Given the description of an element on the screen output the (x, y) to click on. 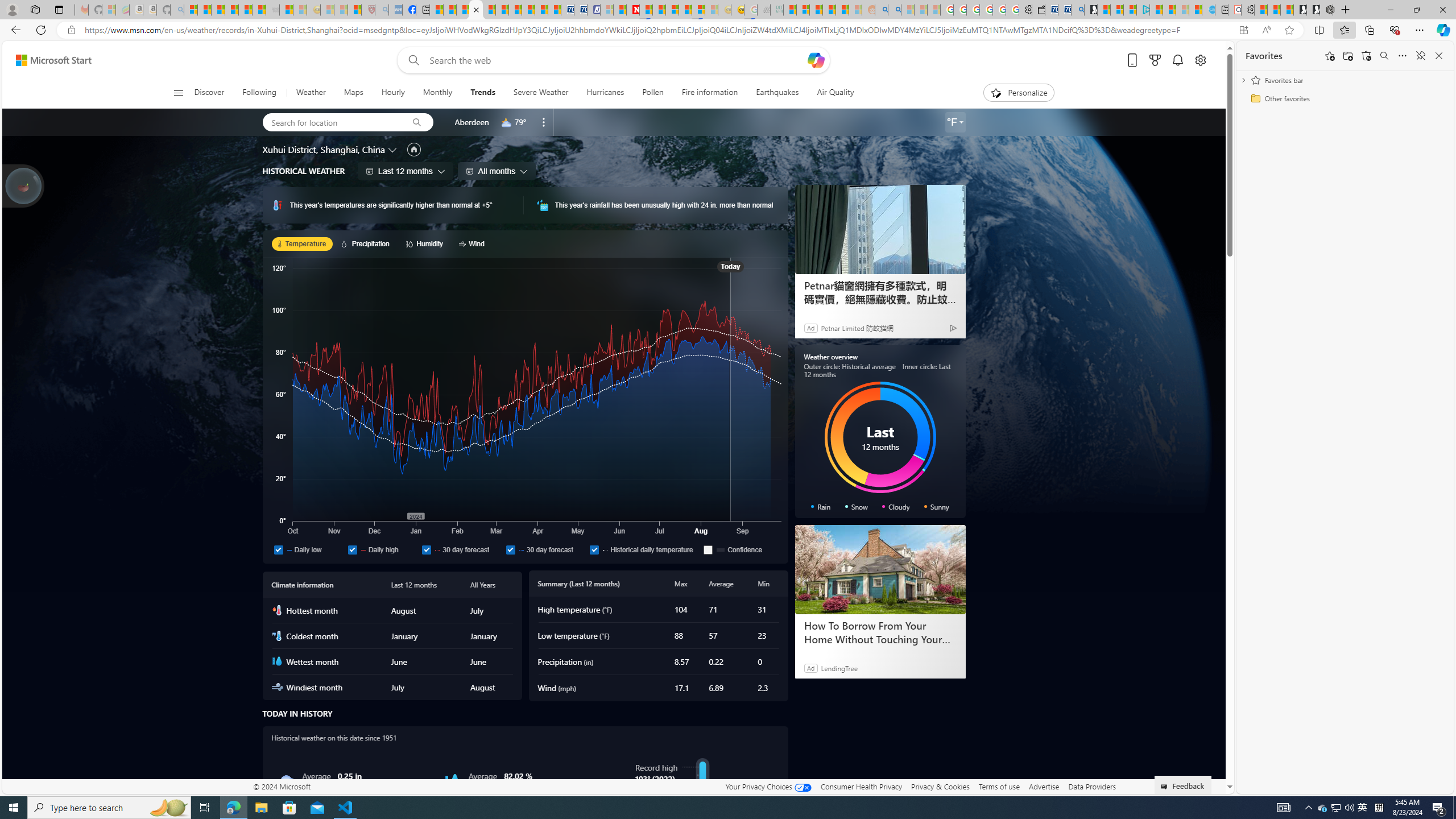
Combat Siege - Sleeping (271, 9)
Close favorites (1439, 55)
Wind (473, 243)
Remove location (544, 122)
All months (496, 170)
Rain (285, 781)
